Given the description of an element on the screen output the (x, y) to click on. 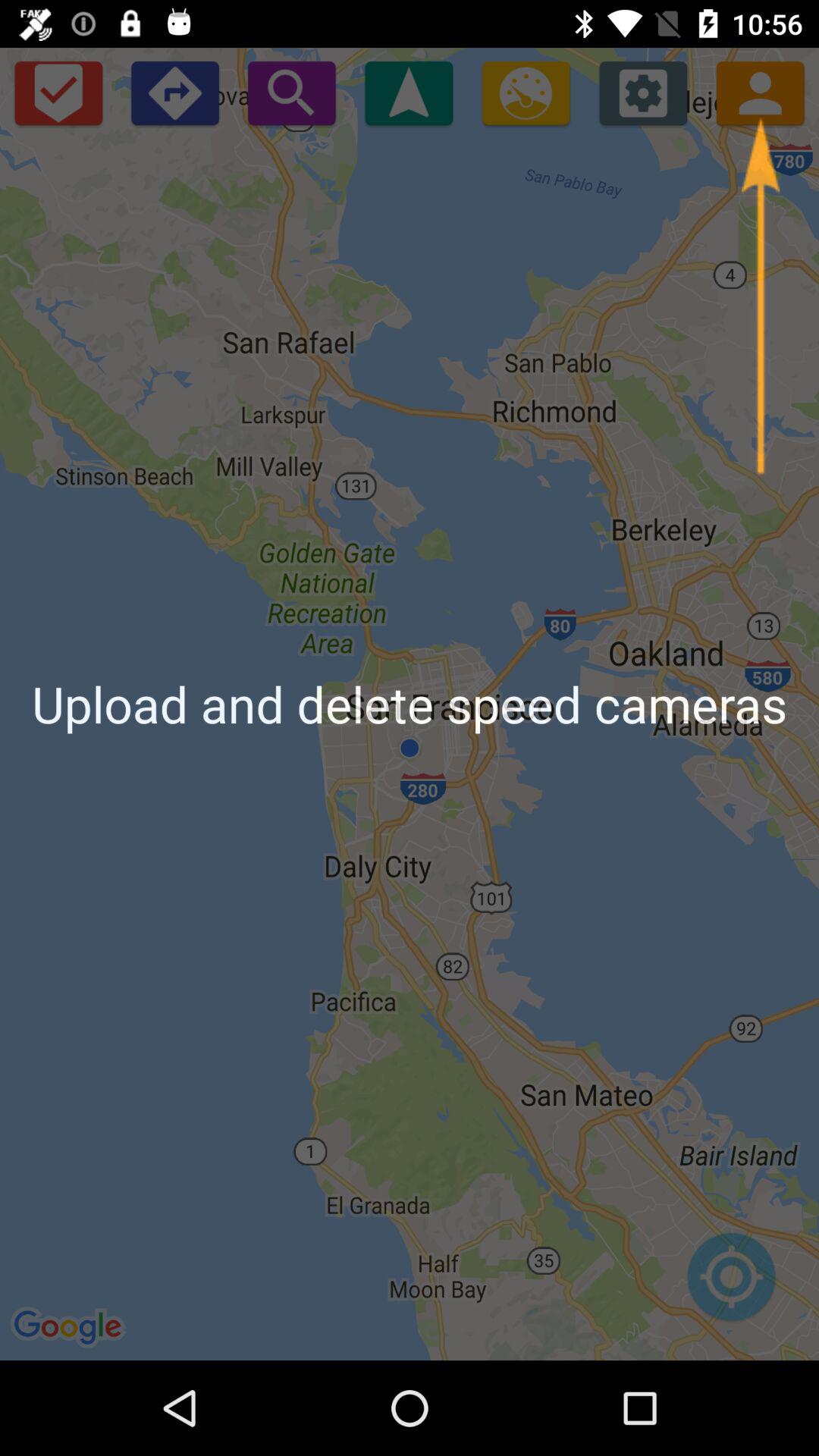
goto next page (174, 92)
